Given the description of an element on the screen output the (x, y) to click on. 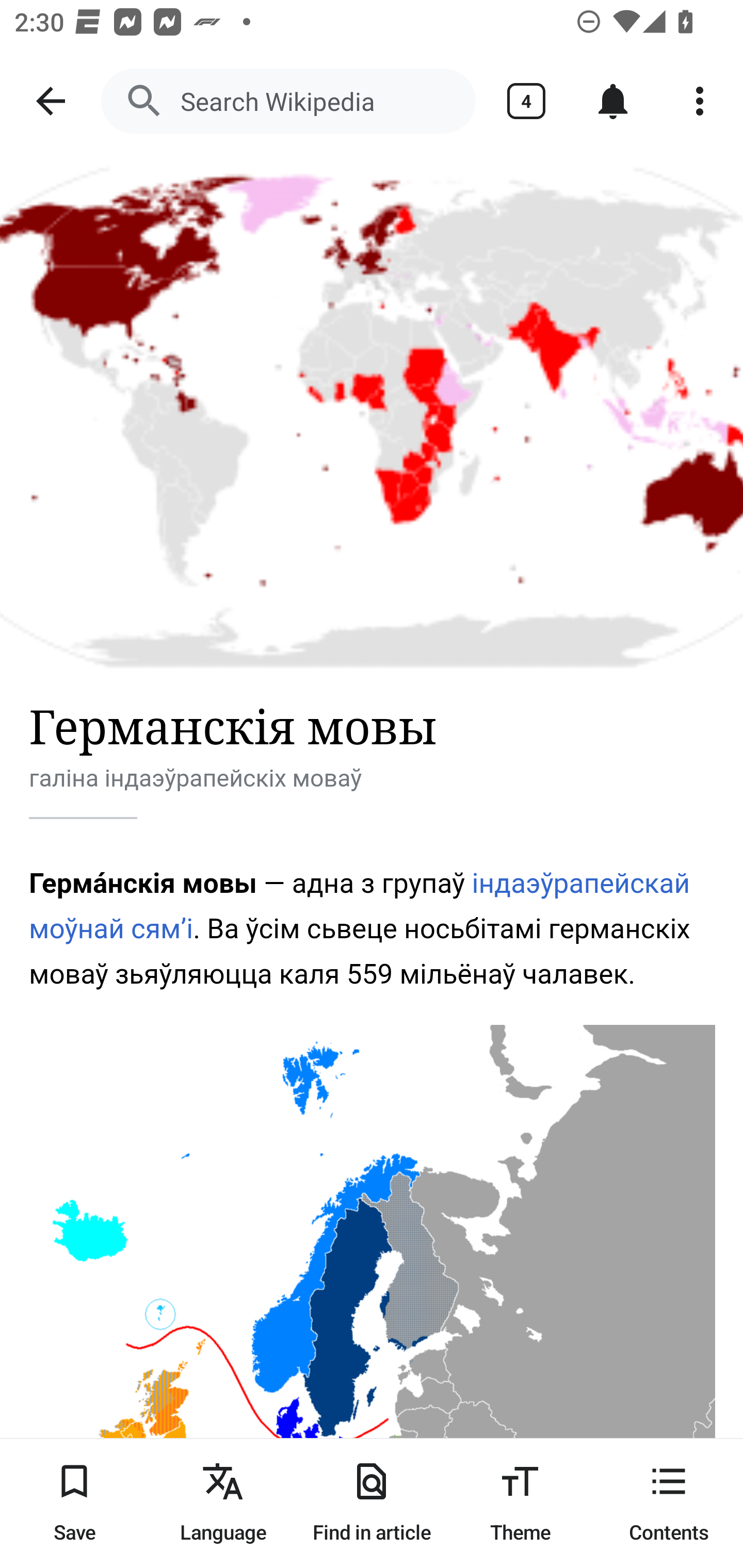
Show tabs 4 (525, 100)
Notifications (612, 100)
Navigate up (50, 101)
More options (699, 101)
Search Wikipedia (288, 100)
Image: Германскія мовы (371, 414)
індаэўрапейскай моўнай сям’і (359, 906)
960px-Europe_germanic-languages_2 (372, 1295)
Save (74, 1502)
Language (222, 1502)
Find in article (371, 1502)
Theme (519, 1502)
Contents (668, 1502)
